Given the description of an element on the screen output the (x, y) to click on. 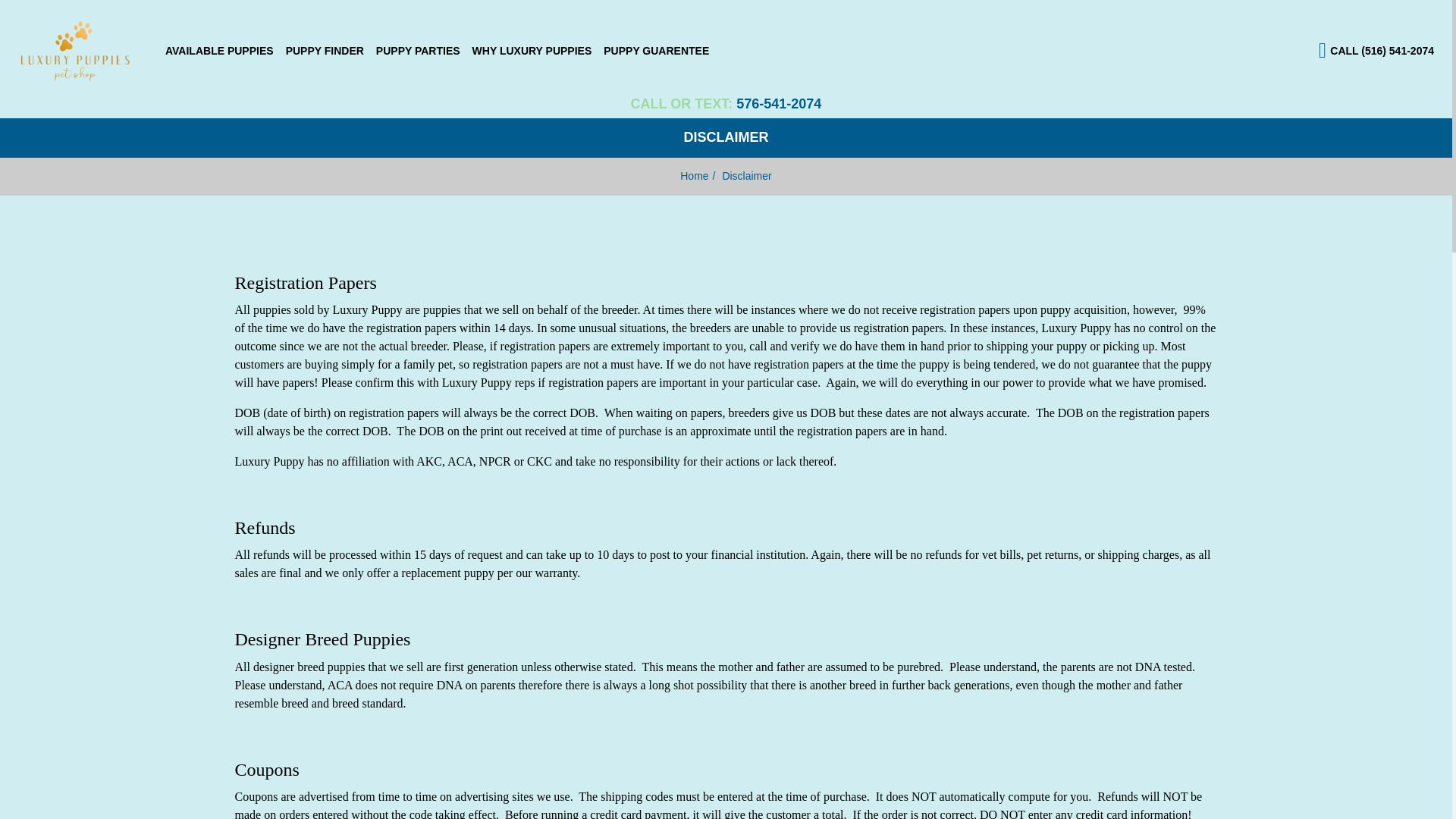
Home (693, 175)
WHY LUXURY PUPPIES (531, 50)
PUPPY GUARENTEE (655, 50)
PUPPY FINDER (324, 50)
576-541-2074 (778, 103)
PUPPY PARTIES (417, 50)
AVAILABLE PUPPIES (218, 50)
